Given the description of an element on the screen output the (x, y) to click on. 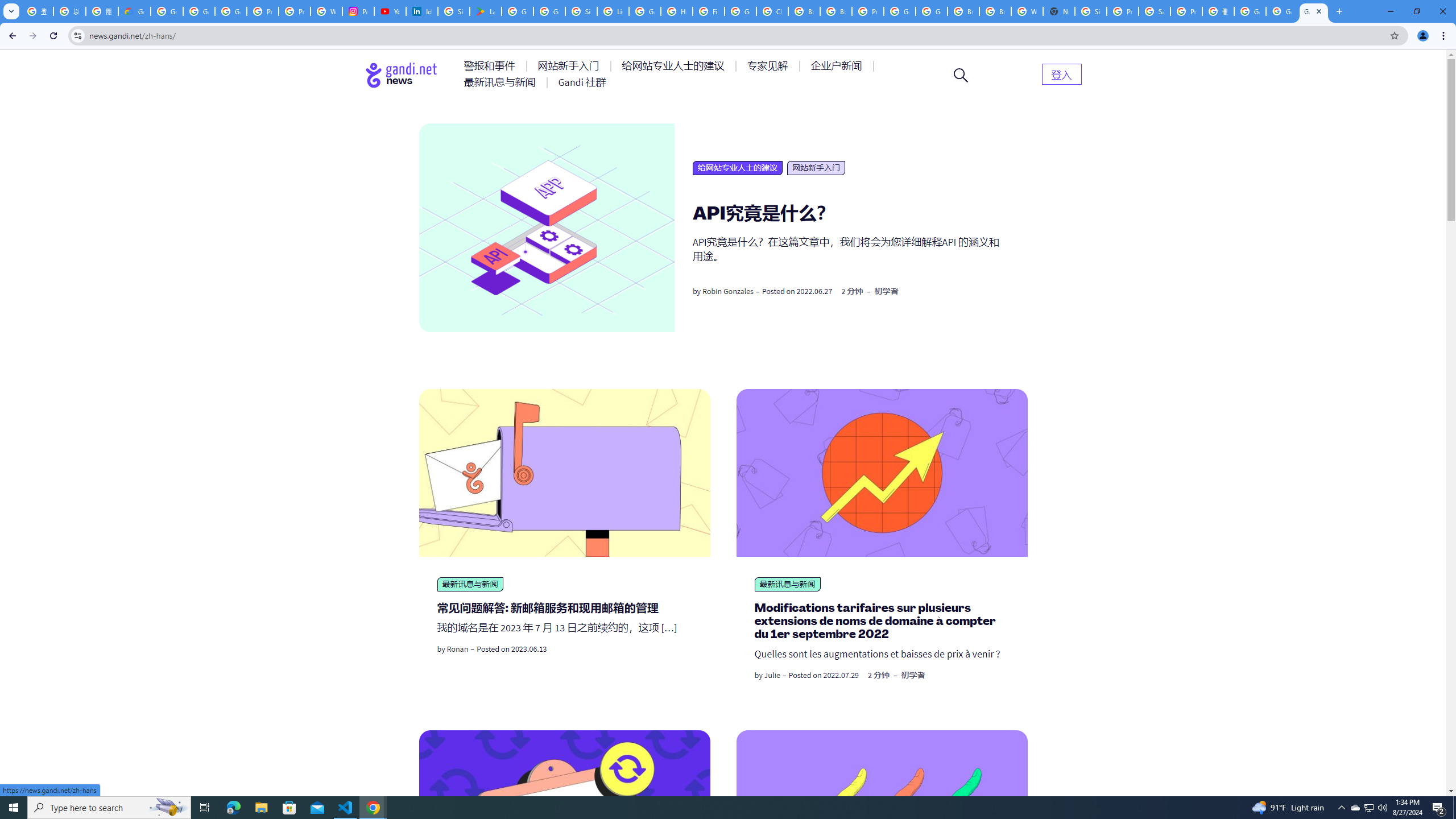
Browse Chrome as a guest - Computer - Google Chrome Help (963, 11)
Robin Gonzales (727, 290)
AutomationID: menu-item-77767 (581, 82)
Sign in - Google Accounts (1091, 11)
